Given the description of an element on the screen output the (x, y) to click on. 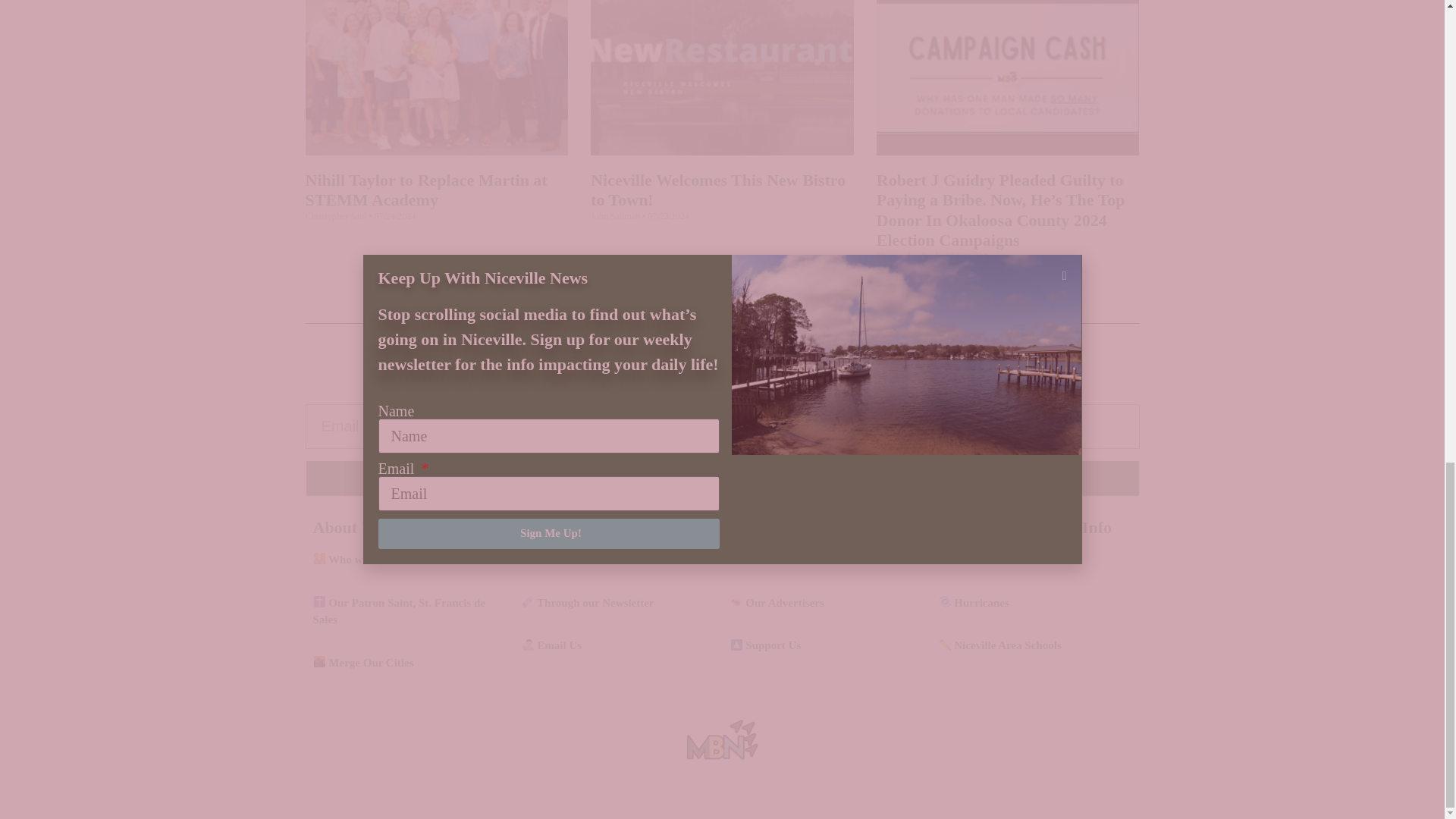
About Us (346, 527)
Nihill Taylor to Replace Martin at STEMM Academy (425, 189)
GET THE NEWS (721, 478)
Who we are (349, 559)
Our Patron Saint, St. Francis de Sales (398, 611)
Niceville Welcomes This New Bistro to Town! (718, 189)
